Given the description of an element on the screen output the (x, y) to click on. 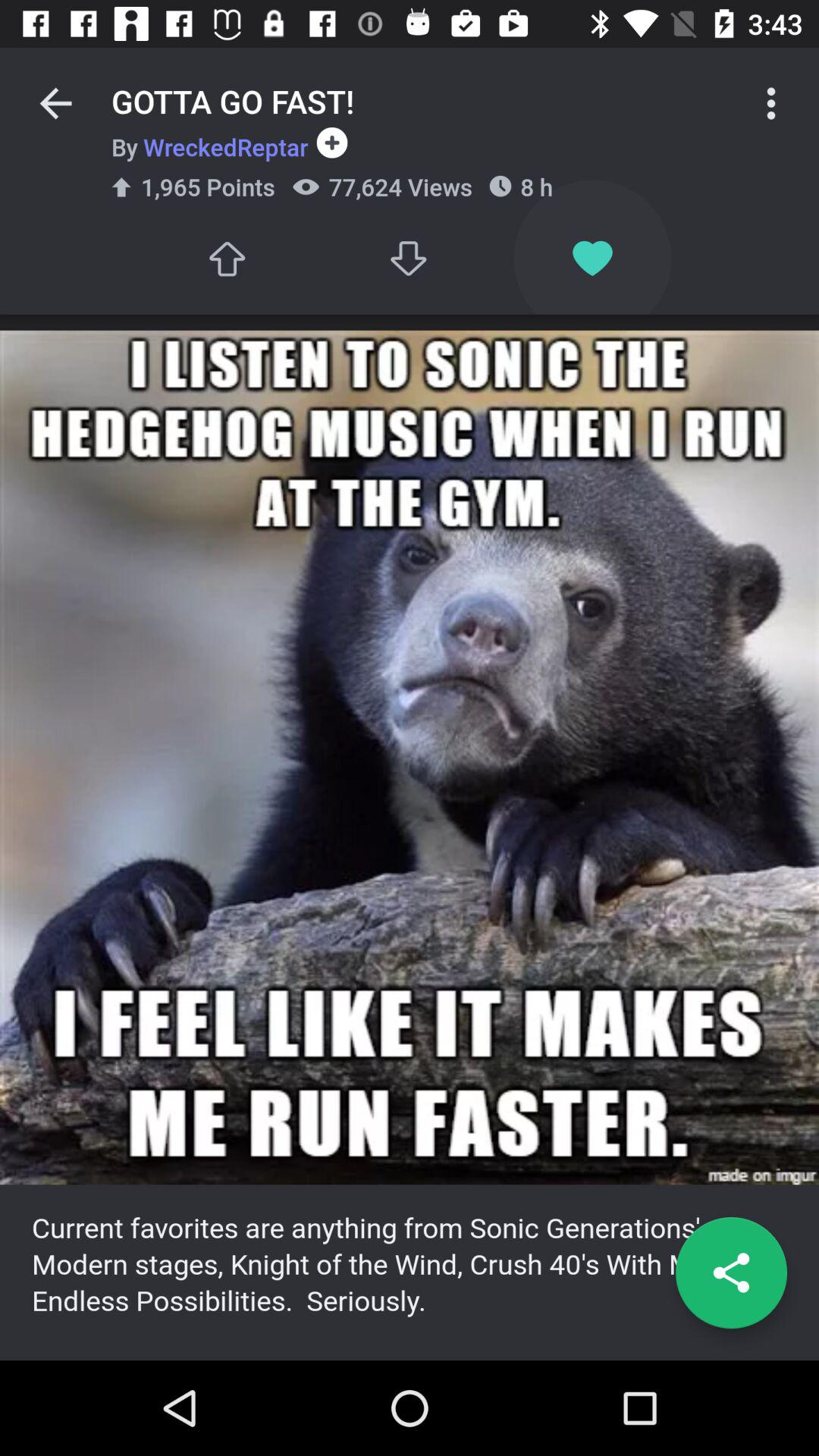
add to favorites (592, 258)
